Given the description of an element on the screen output the (x, y) to click on. 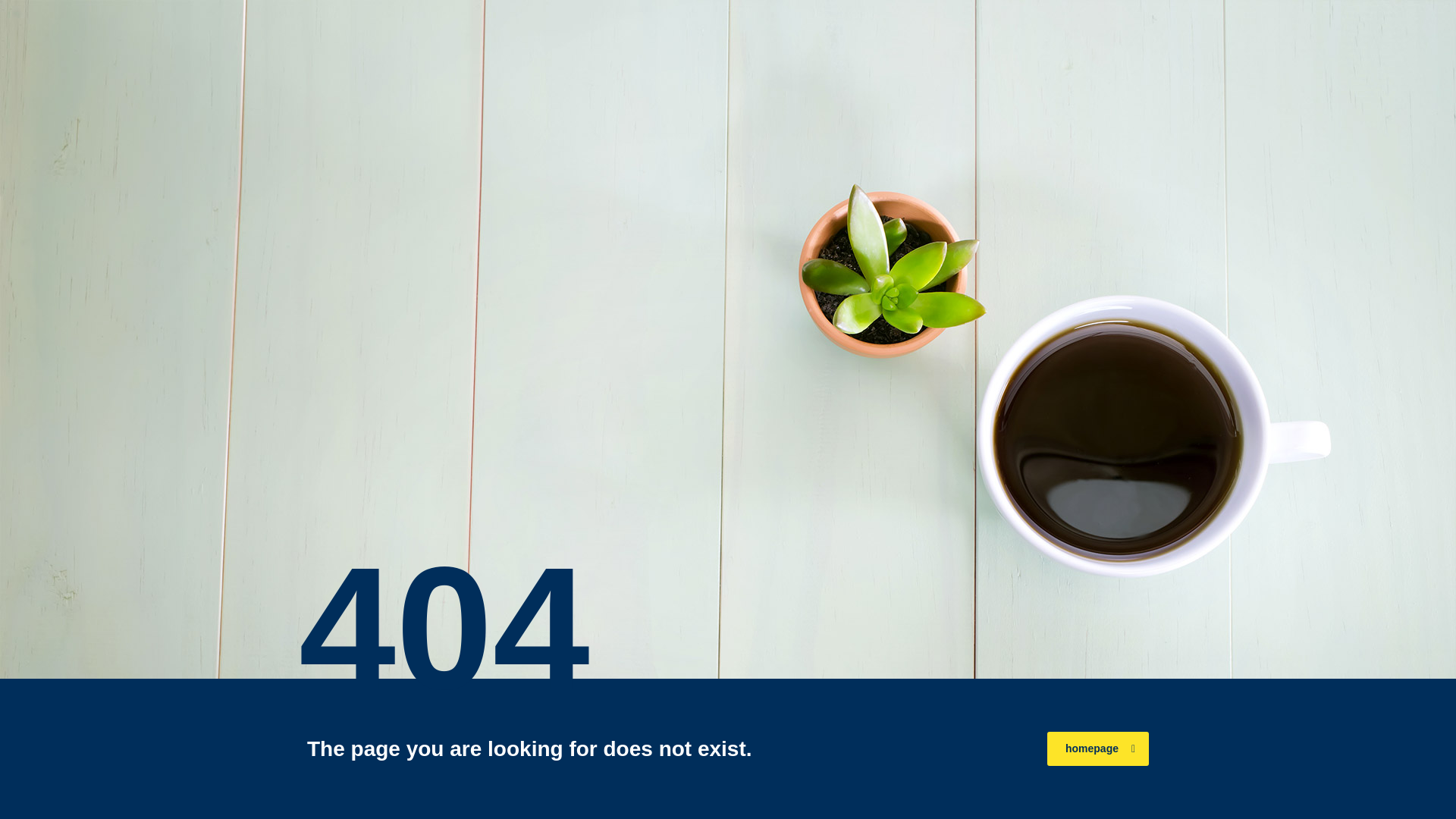
homepage (1097, 748)
